Given the description of an element on the screen output the (x, y) to click on. 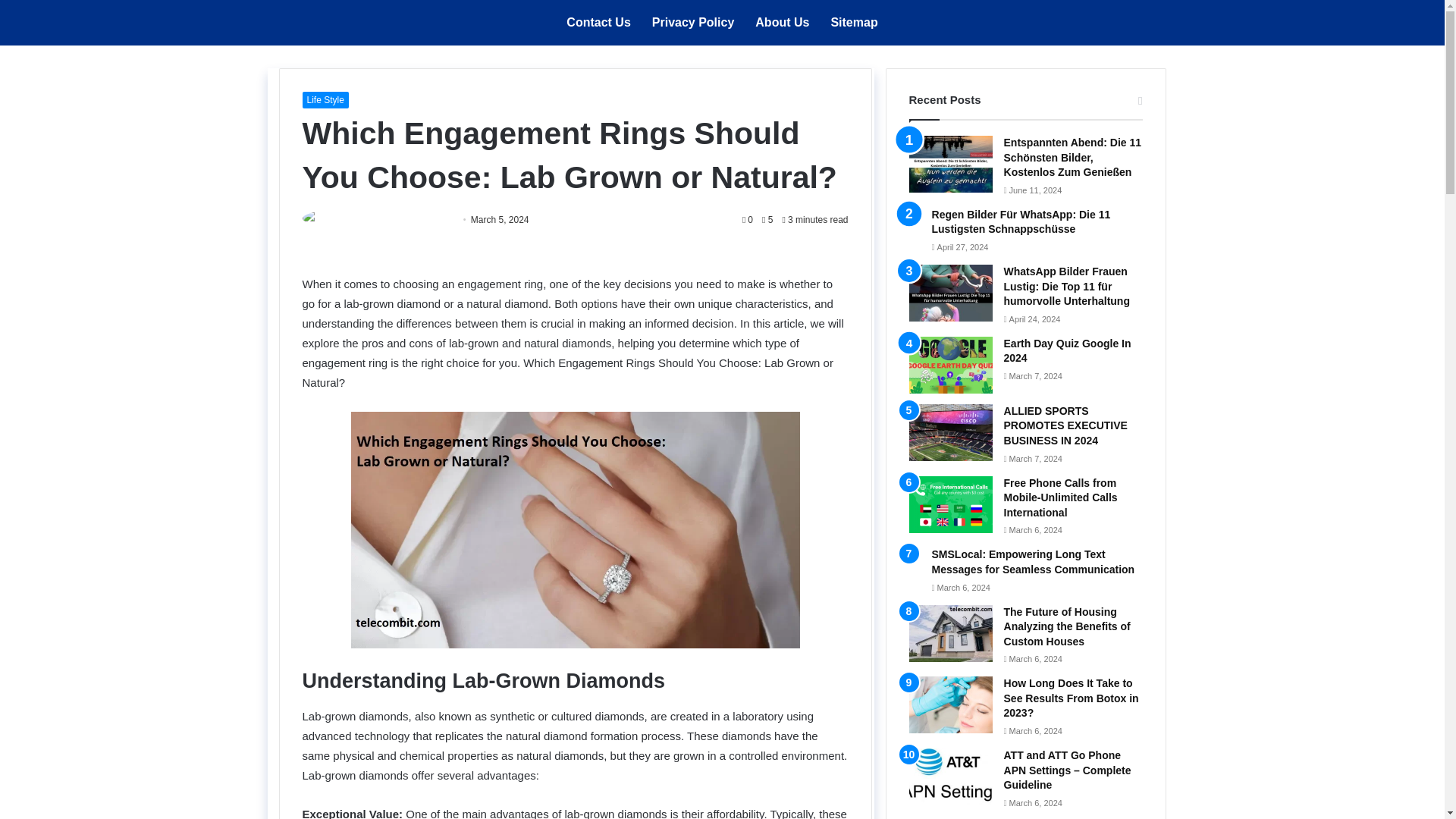
About Us (781, 22)
Life Style (324, 99)
Contact Us (598, 22)
Privacy Policy (693, 22)
Sitemap (853, 22)
Alex Nilson (424, 219)
Alex Nilson (424, 219)
